Given the description of an element on the screen output the (x, y) to click on. 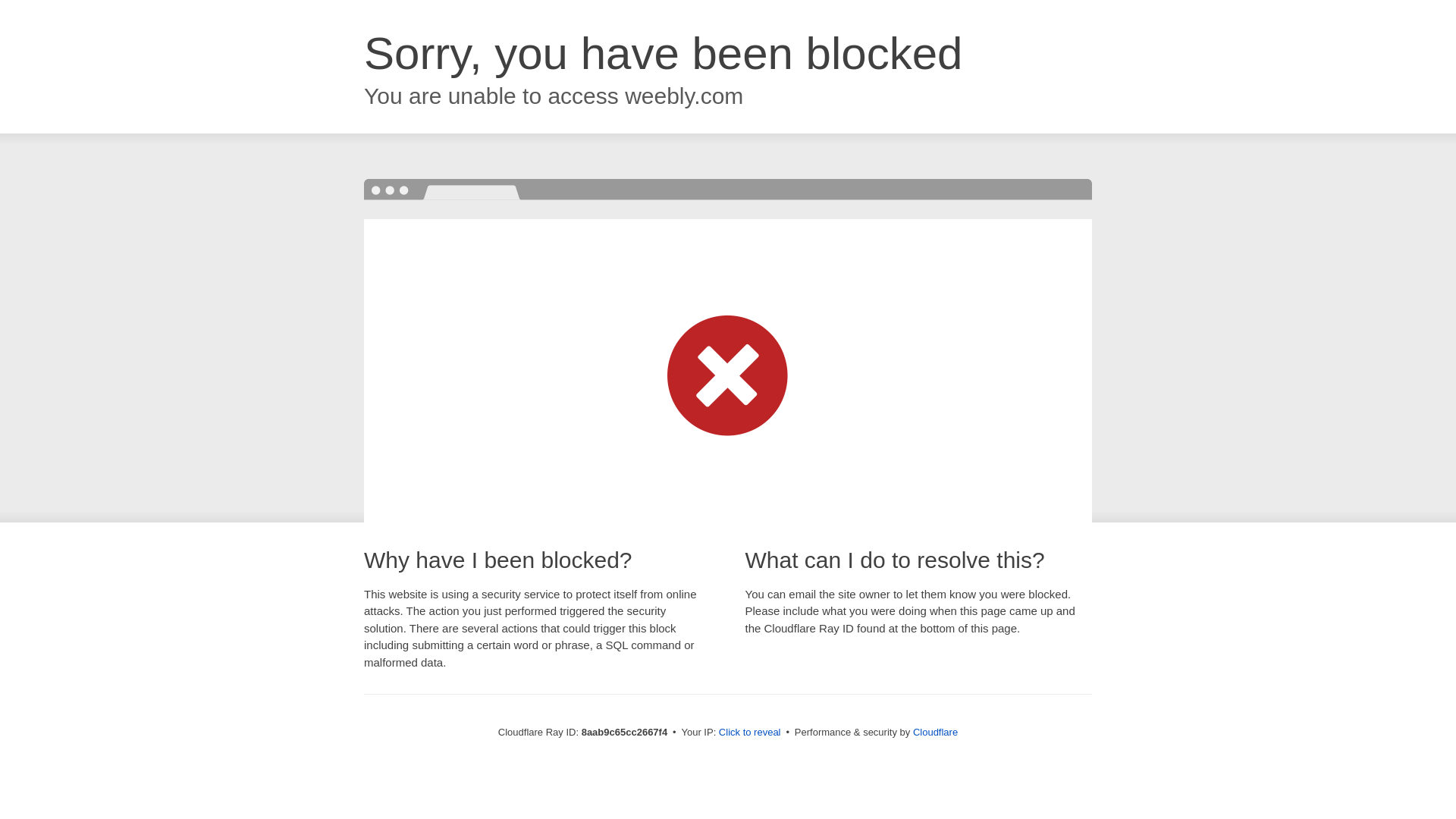
Cloudflare (935, 731)
Click to reveal (749, 732)
